Given the description of an element on the screen output the (x, y) to click on. 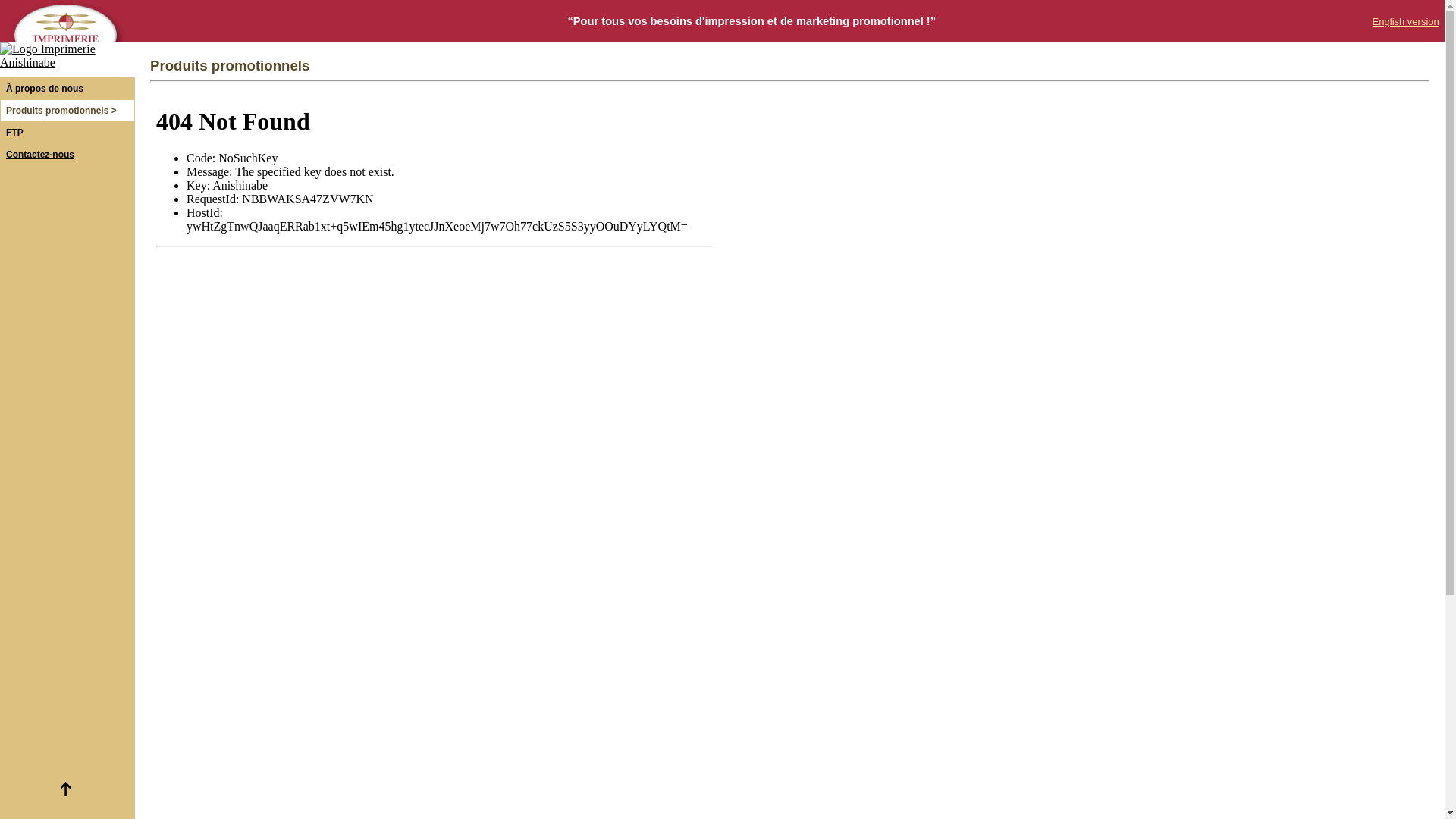
Page d'accueil Element type: hover (67, 62)
FTP Element type: text (14, 132)
English version Element type: text (1405, 20)
Page d'accueil Element type: hover (65, 37)
Contactez-nous Element type: text (40, 154)
